Given the description of an element on the screen output the (x, y) to click on. 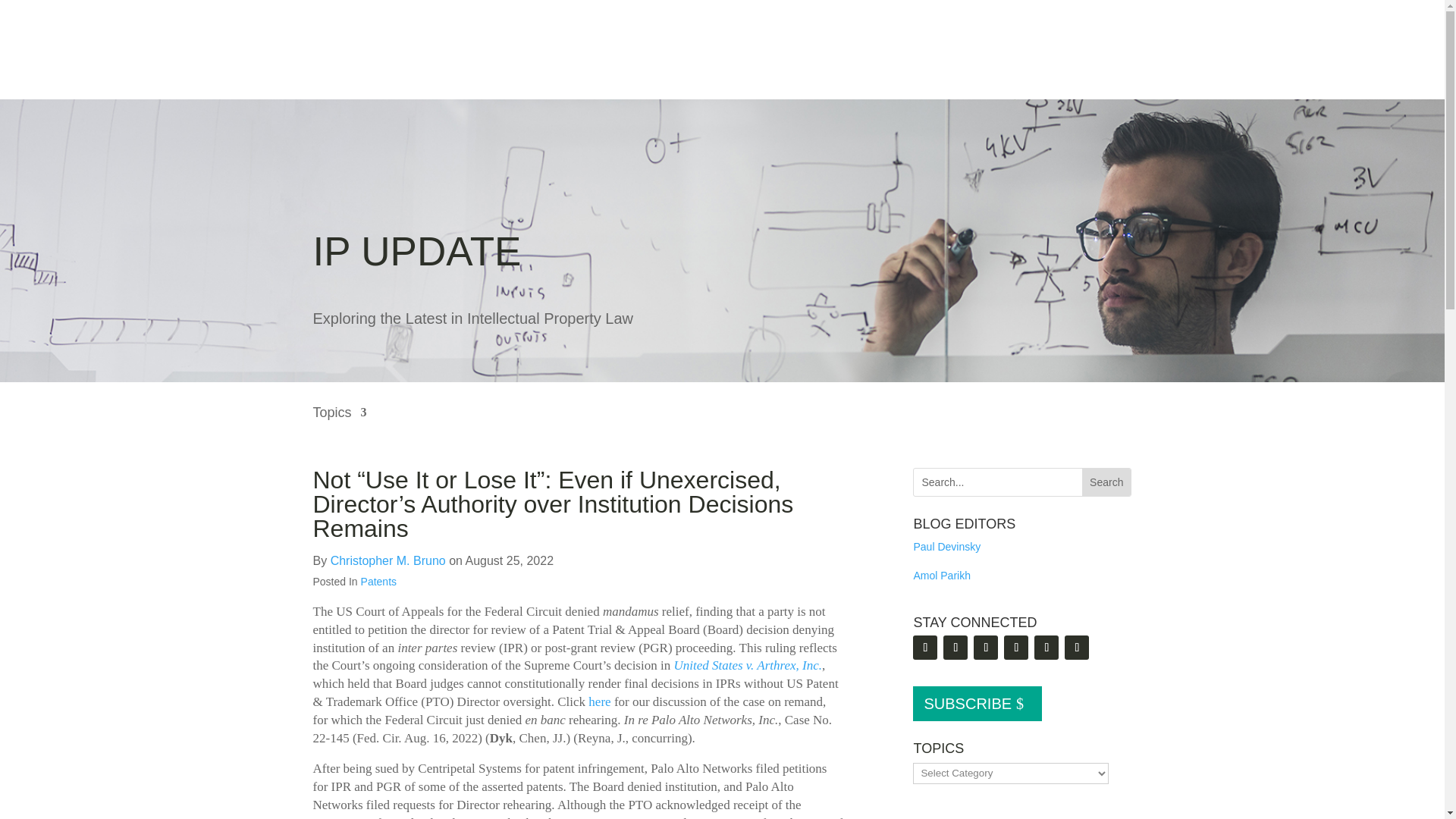
Topics (339, 423)
Search (1106, 482)
Follow on LinkedIn (955, 647)
Follow on X (985, 647)
Posts by Christopher M. Bruno (387, 560)
Follow on Youtube (1015, 647)
Search (1106, 482)
Follow on RSS (924, 647)
